Given the description of an element on the screen output the (x, y) to click on. 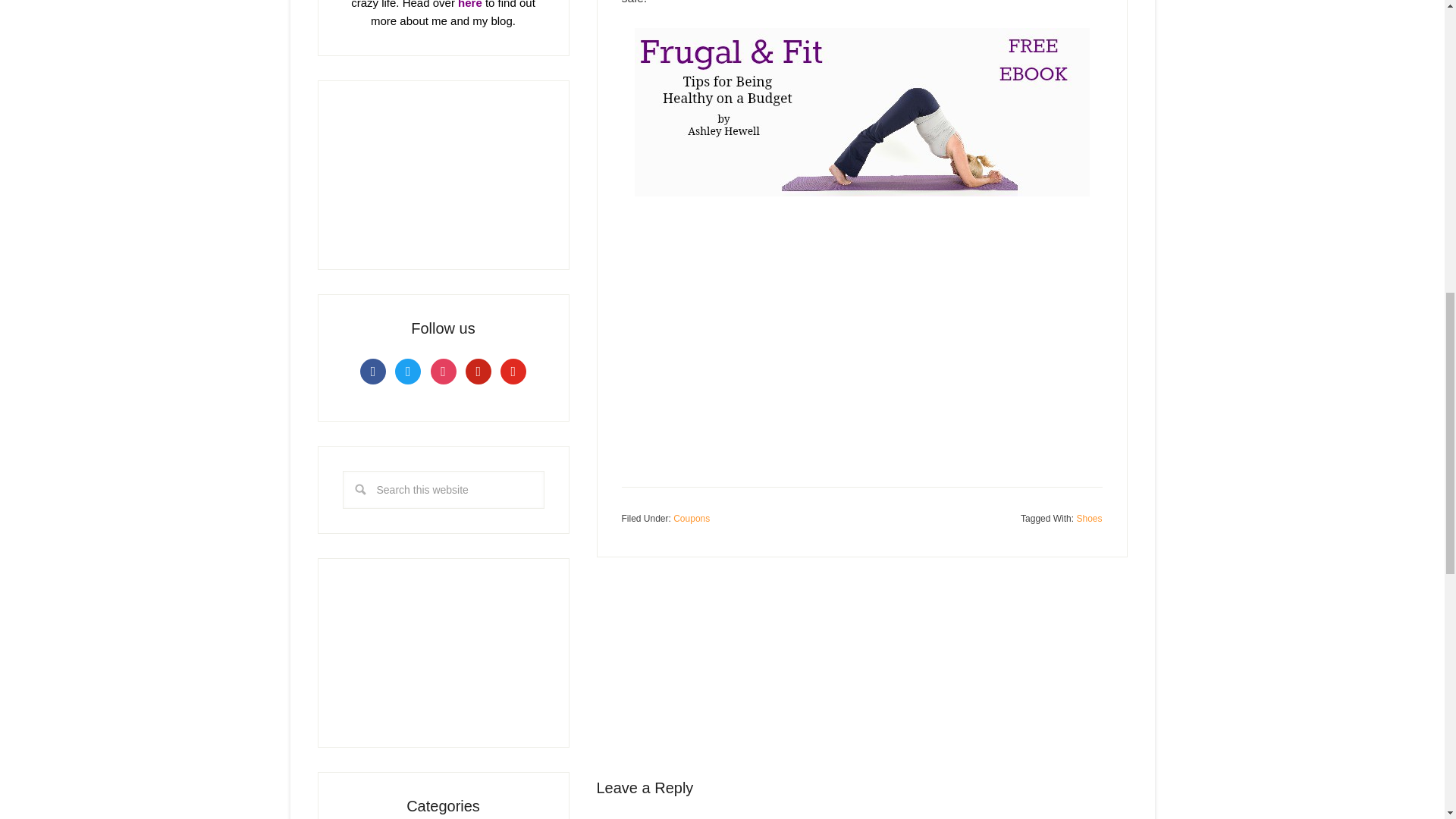
Facebook (372, 369)
Instagram (443, 369)
Default Label (478, 369)
Default Label (512, 369)
Twitter (407, 369)
